Given the description of an element on the screen output the (x, y) to click on. 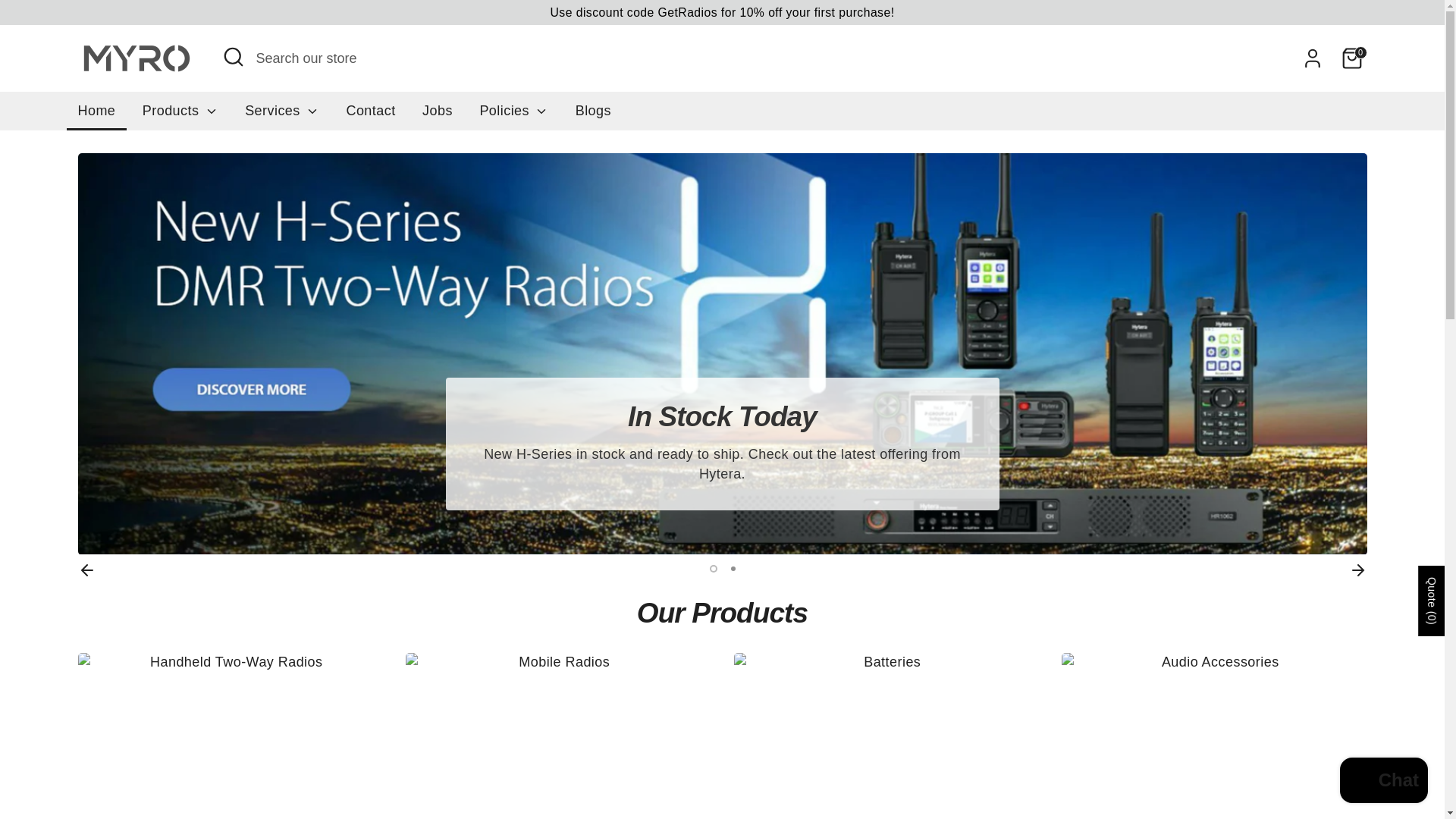
Mastercard (1228, 770)
Visa (1350, 770)
Shop Pay (1289, 770)
Diners Club (1107, 770)
PayPal (1259, 770)
Amazon (1016, 770)
Apple Pay (1077, 770)
Google Pay (1198, 770)
Discover (1138, 770)
American Express (1046, 770)
